Given the description of an element on the screen output the (x, y) to click on. 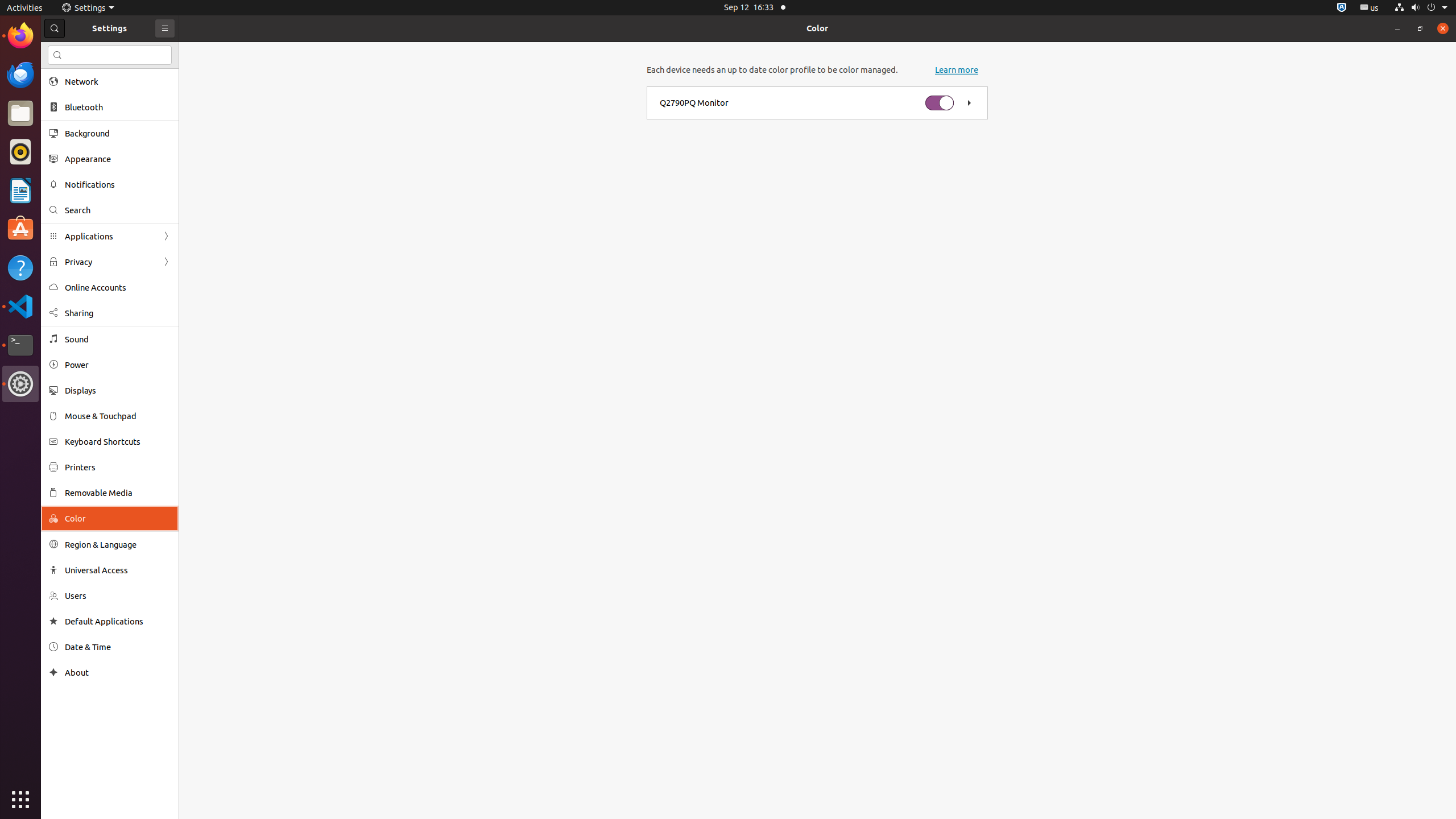
Close Element type: push-button (1442, 27)
Minimize Element type: push-button (1397, 27)
Search Element type: label (117, 209)
Color Element type: label (817, 27)
